Given the description of an element on the screen output the (x, y) to click on. 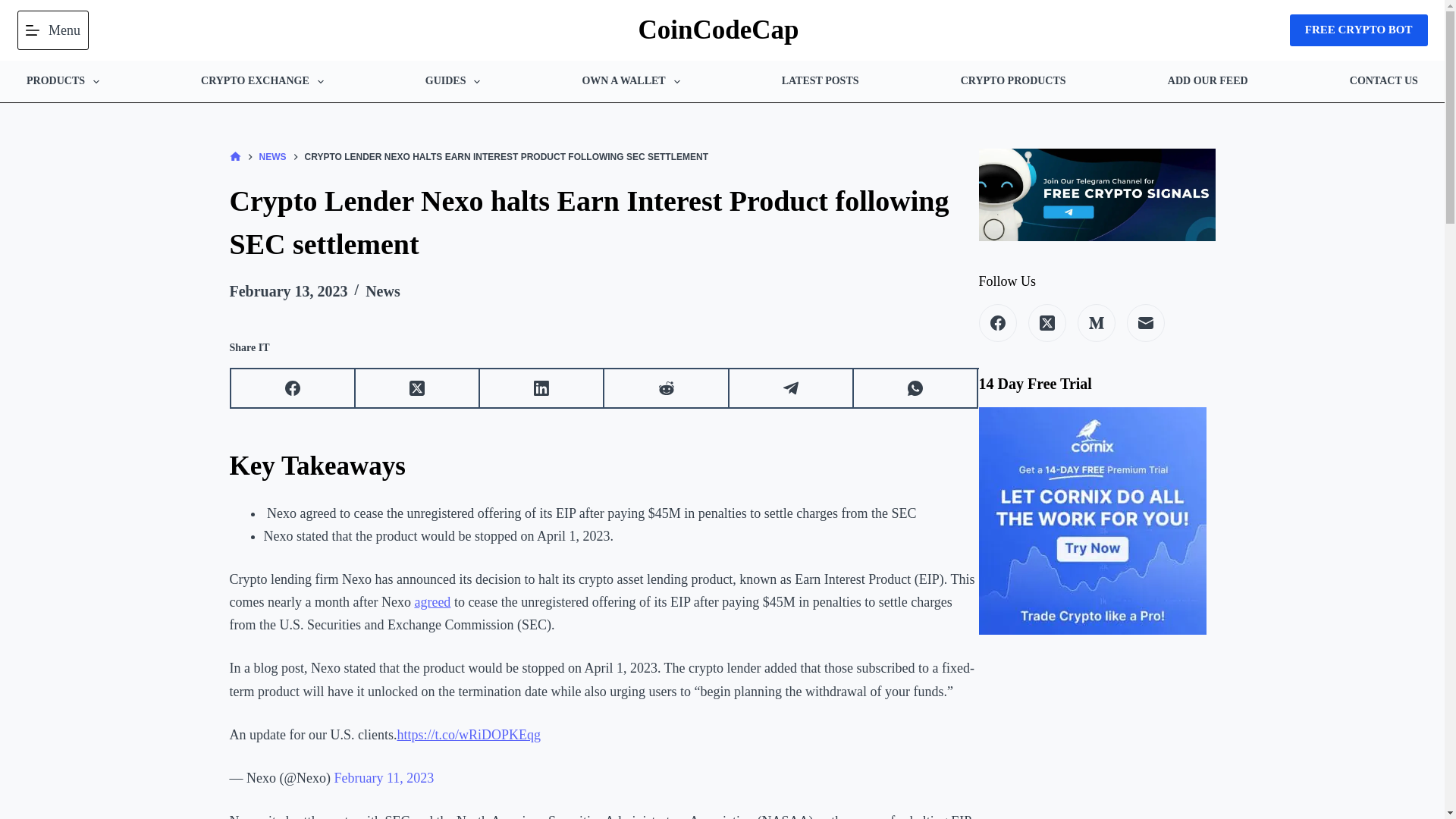
bingx (1359, 29)
Skip to content (15, 7)
